Given the description of an element on the screen output the (x, y) to click on. 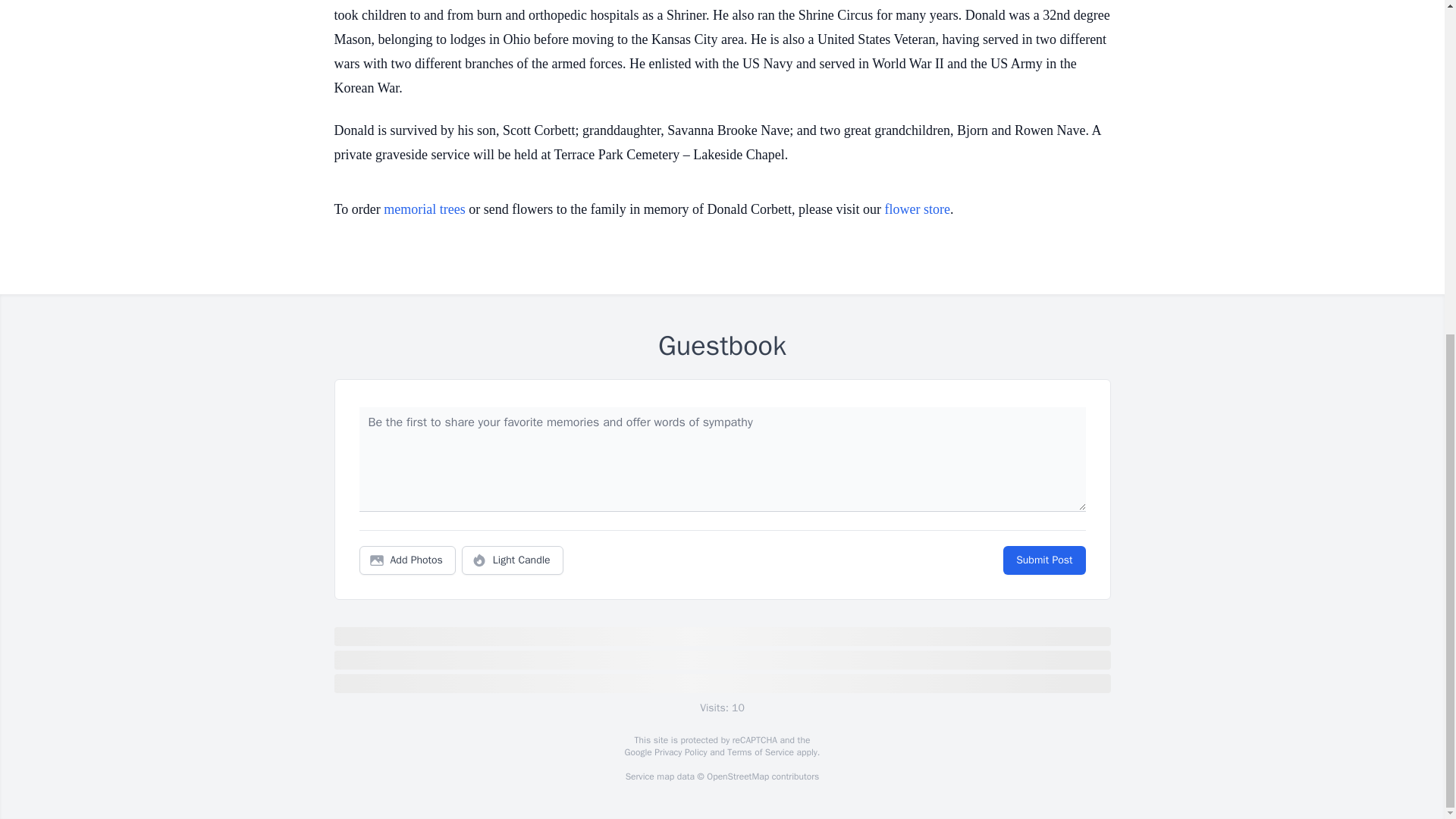
Submit Post (1043, 560)
Privacy Policy (679, 752)
Light Candle (512, 560)
flower store (917, 209)
memorial trees (424, 209)
Terms of Service (759, 752)
OpenStreetMap (737, 776)
Add Photos (407, 560)
